Given the description of an element on the screen output the (x, y) to click on. 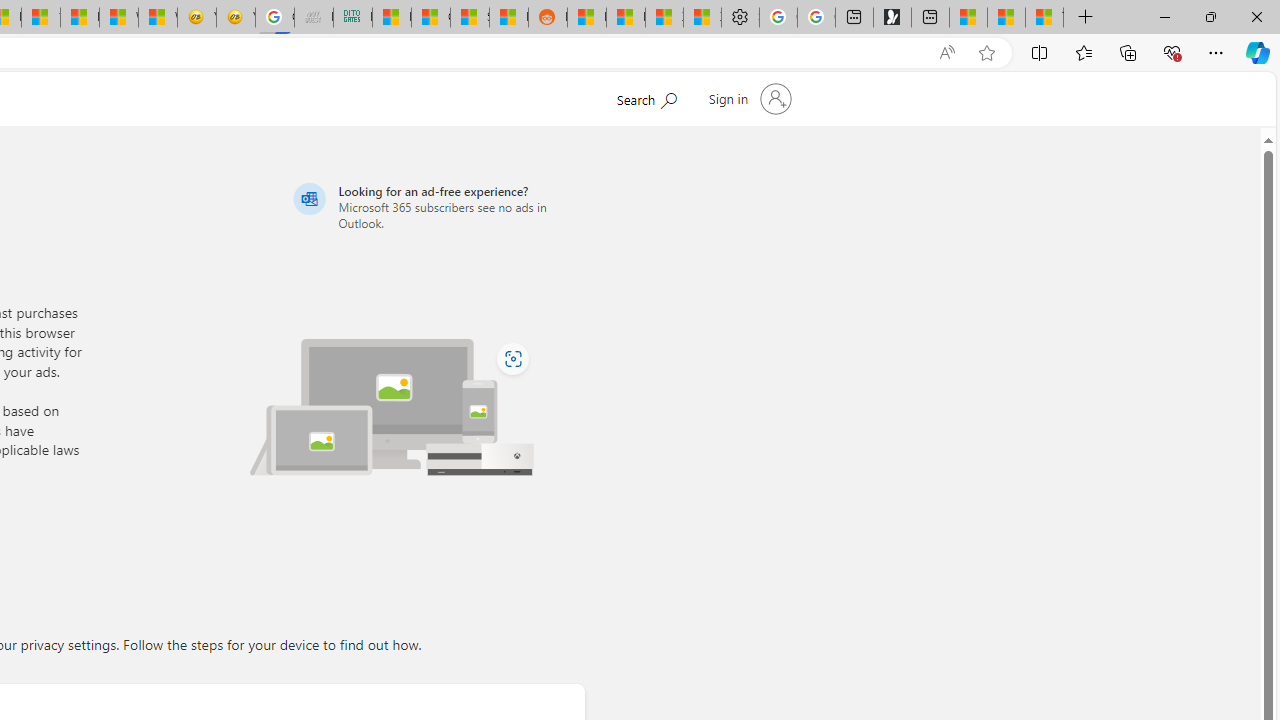
Sign in to your account (748, 98)
Looking for an ad-free experience? (436, 206)
Illustration of multiple devices (392, 406)
R******* | Trusted Community Engagement and Contributions (586, 17)
